Given the description of an element on the screen output the (x, y) to click on. 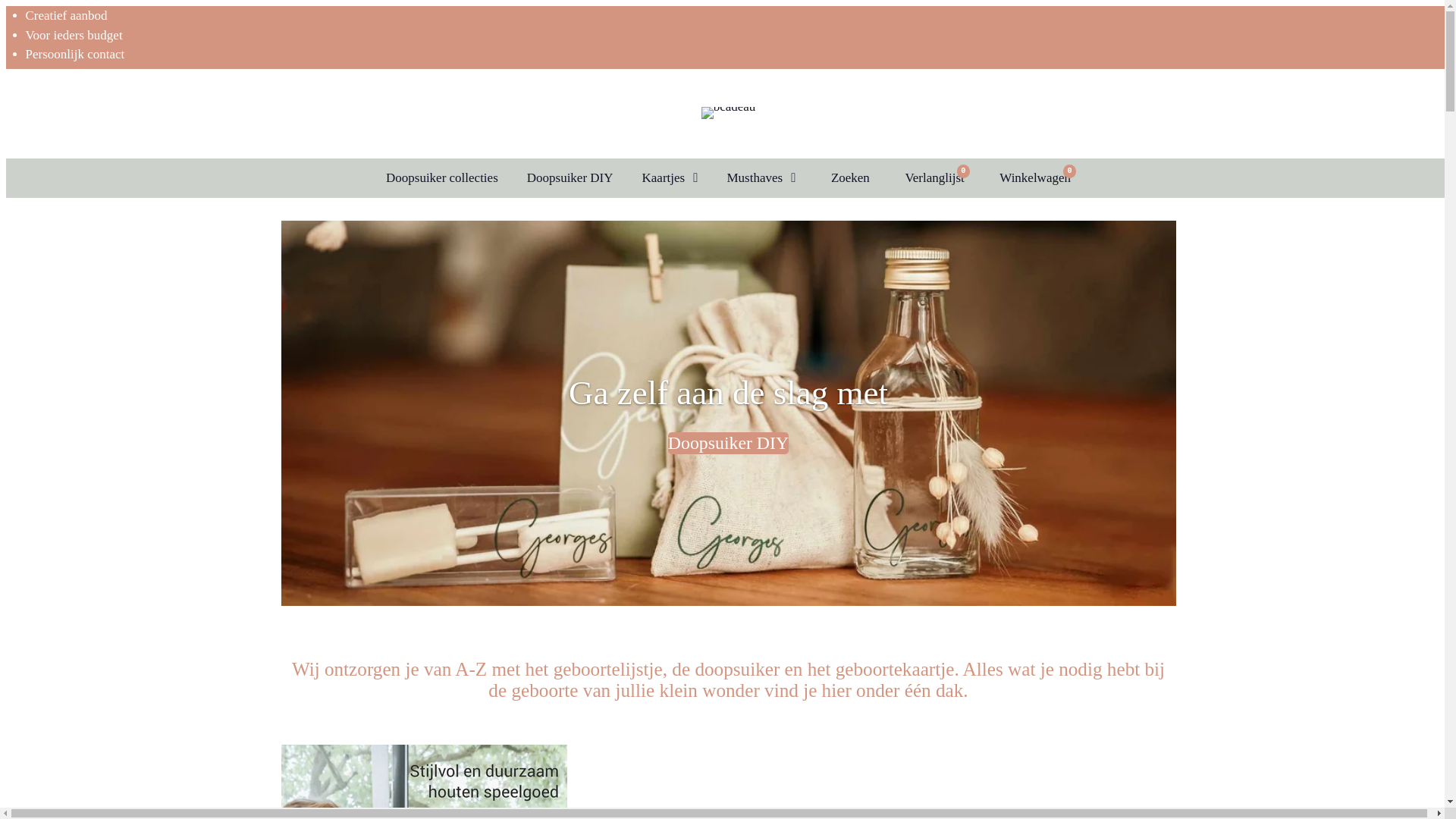
Doopsuiker DIY Element type: text (570, 177)
Musthaves Element type: text (760, 177)
0
Verlanglijst Element type: text (931, 177)
Kaartjes Element type: text (670, 177)
0
Winkelwagen Element type: text (1031, 177)
Doopsuiker collecties Element type: text (441, 177)
Zoeken Element type: text (846, 177)
bcadeau Element type: hover (728, 113)
Doopsuiker DIY Element type: text (728, 443)
